Given the description of an element on the screen output the (x, y) to click on. 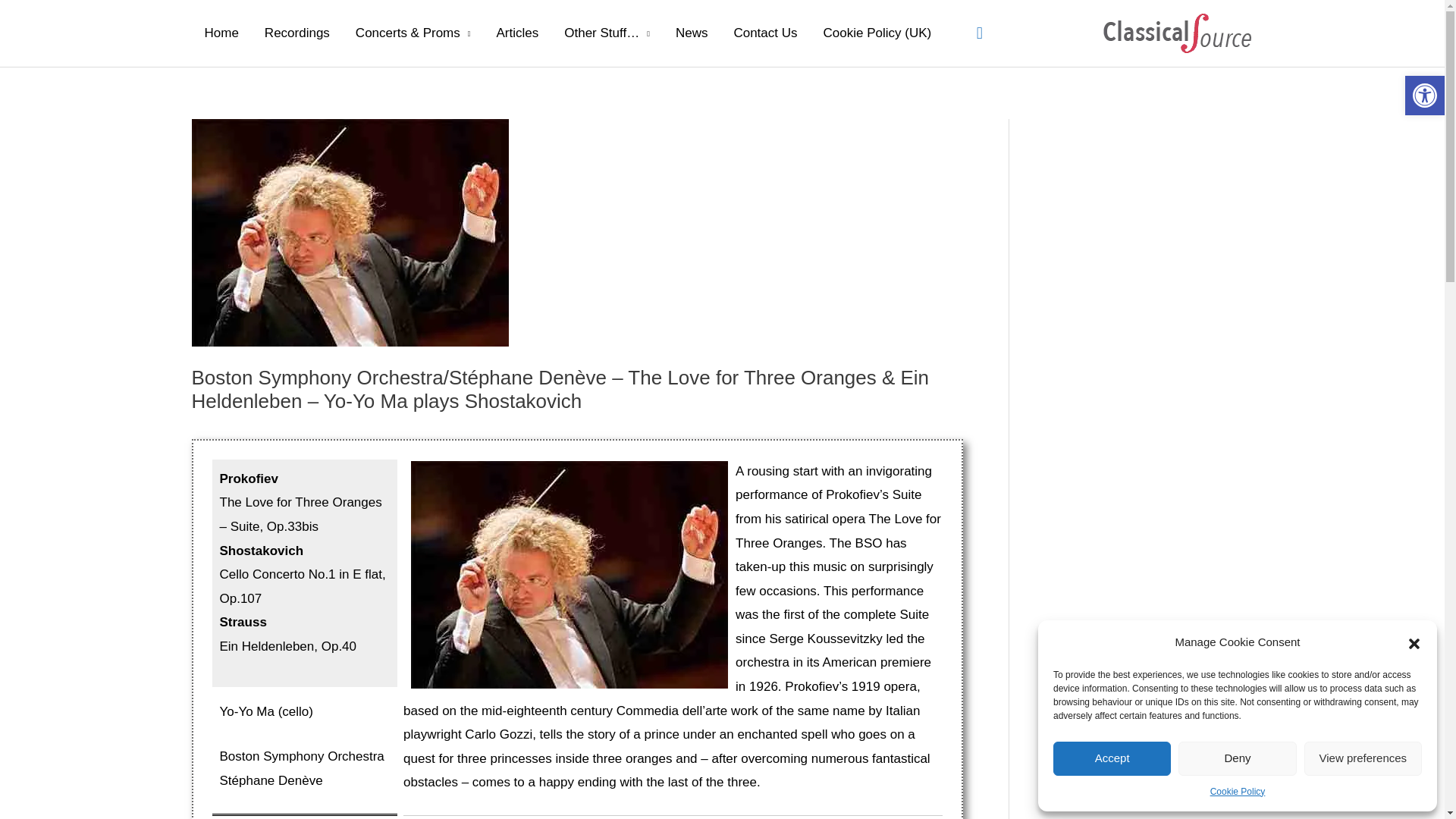
Deny (1236, 758)
View preferences (1363, 758)
Accept (1111, 758)
Accessibility Tools (1424, 95)
Cookie Policy (1237, 791)
Articles (517, 33)
Home (220, 33)
Recordings (296, 33)
